Given the description of an element on the screen output the (x, y) to click on. 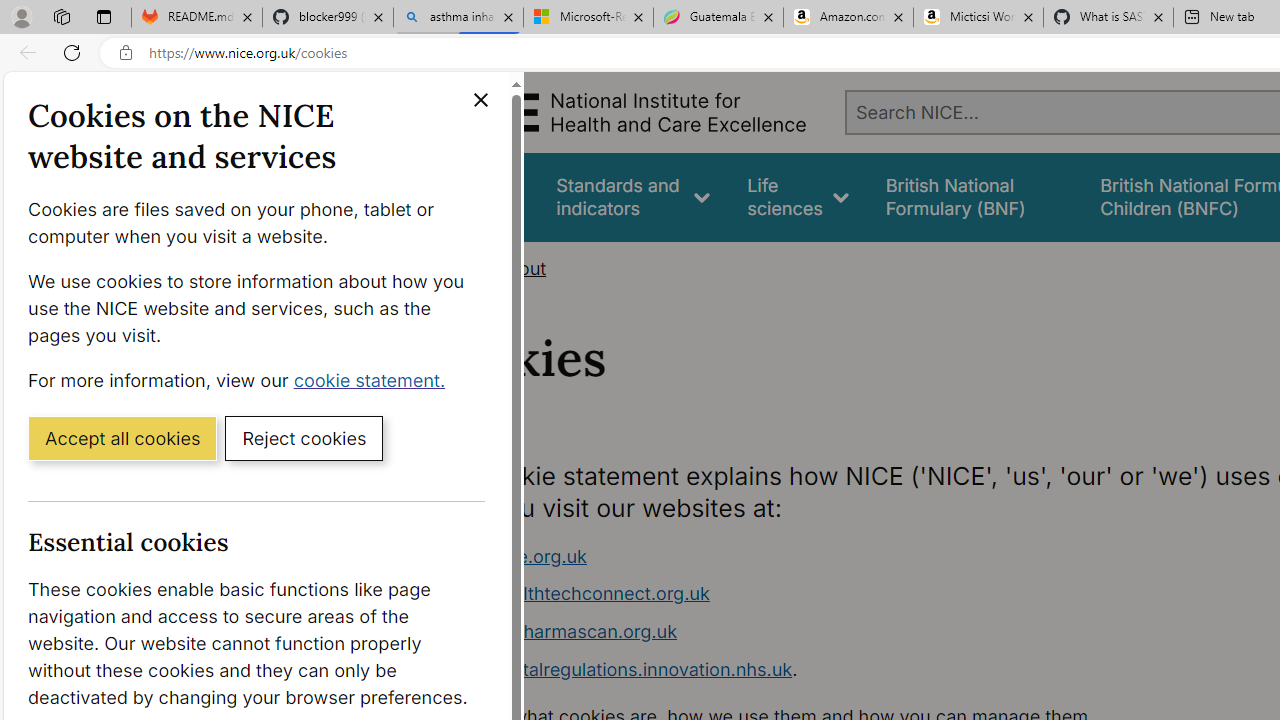
www.healthtechconnect.org.uk (818, 594)
www.ukpharmascan.org.uk (560, 631)
Close cookie banner (480, 99)
asthma inhaler - Search (458, 17)
Accept all cookies (122, 437)
